Given the description of an element on the screen output the (x, y) to click on. 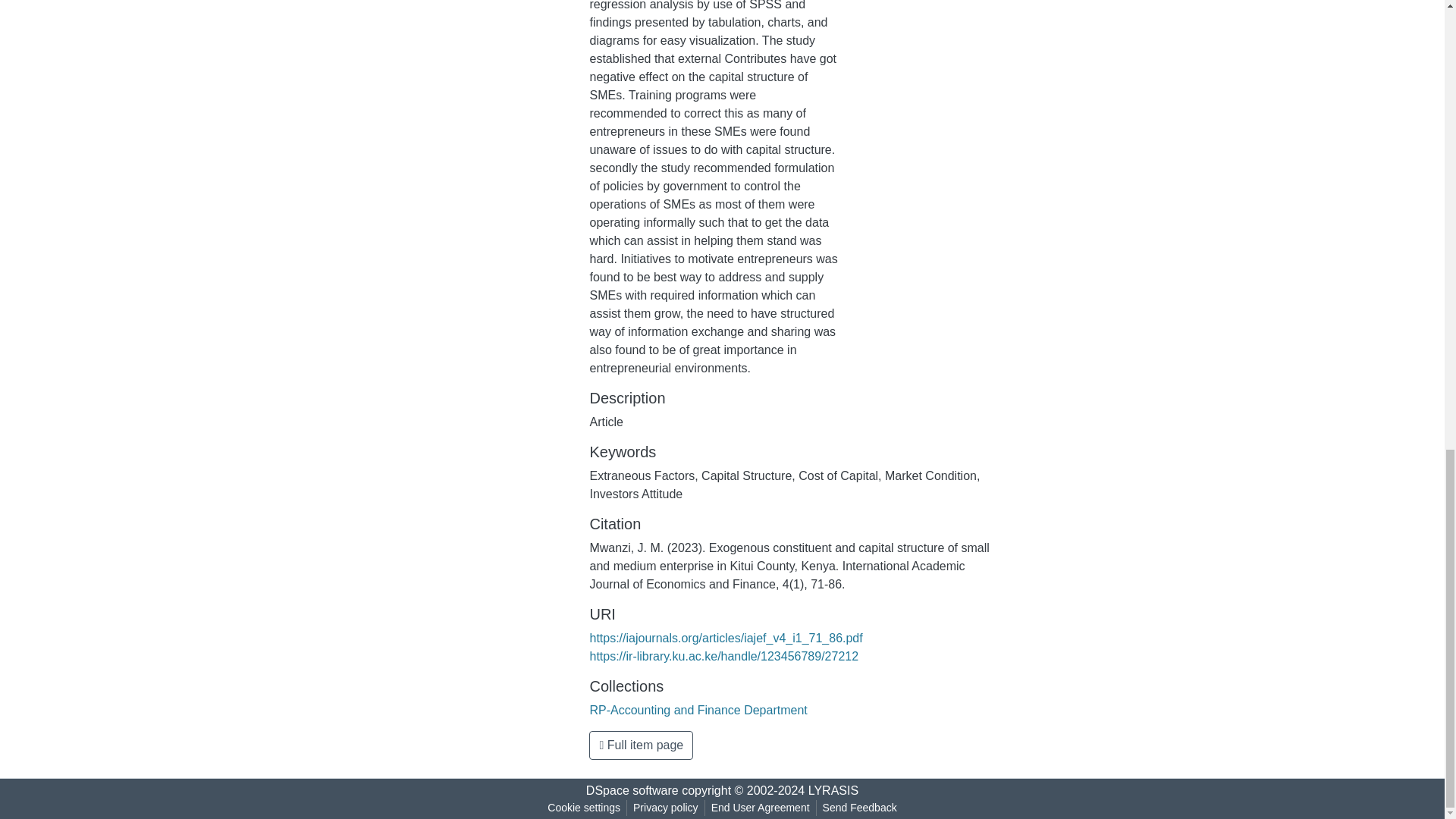
DSpace software (632, 789)
Privacy policy (665, 807)
RP-Accounting and Finance Department (697, 709)
LYRASIS (833, 789)
Full item page (641, 745)
End User Agreement (759, 807)
Cookie settings (583, 807)
Send Feedback (859, 807)
